Given the description of an element on the screen output the (x, y) to click on. 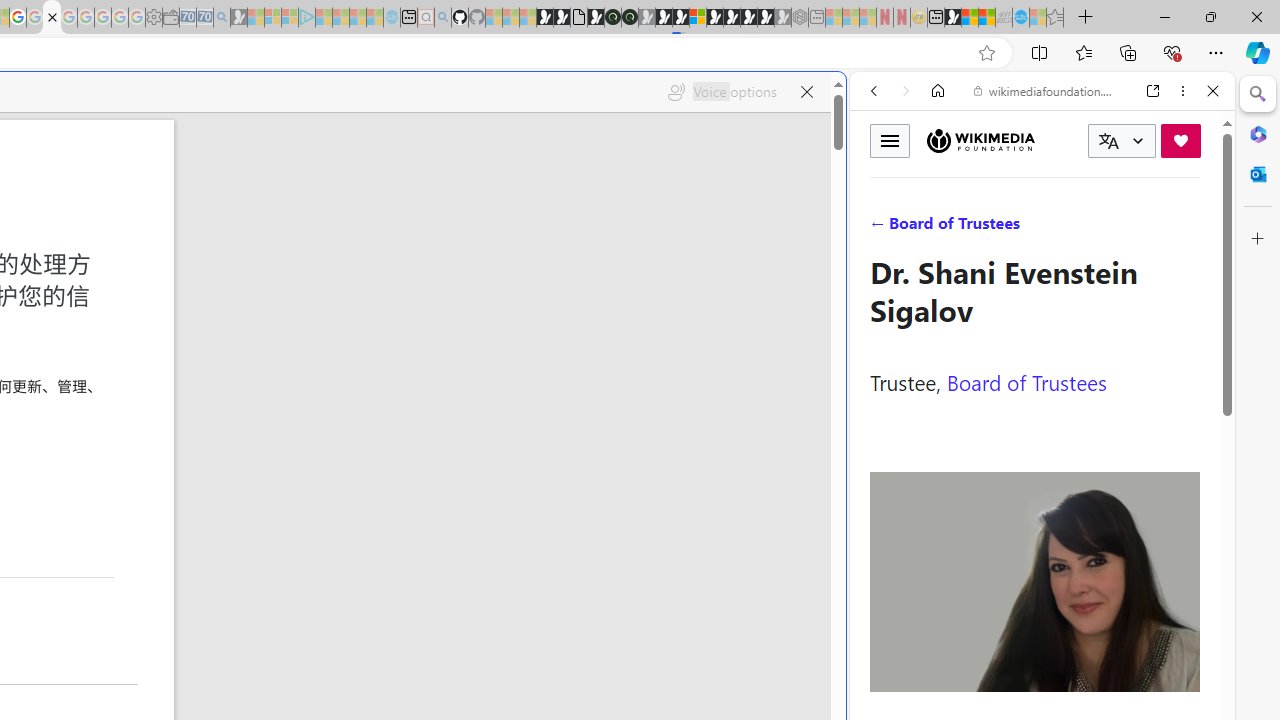
Frequently visited (418, 265)
Microsoft Start Gaming - Sleeping (238, 17)
CURRENT LANGUAGE: (1121, 141)
Home | Sky Blue Bikes - Sky Blue Bikes (687, 426)
WEB   (882, 228)
New Tab (1085, 17)
Collections (1128, 52)
